Given the description of an element on the screen output the (x, y) to click on. 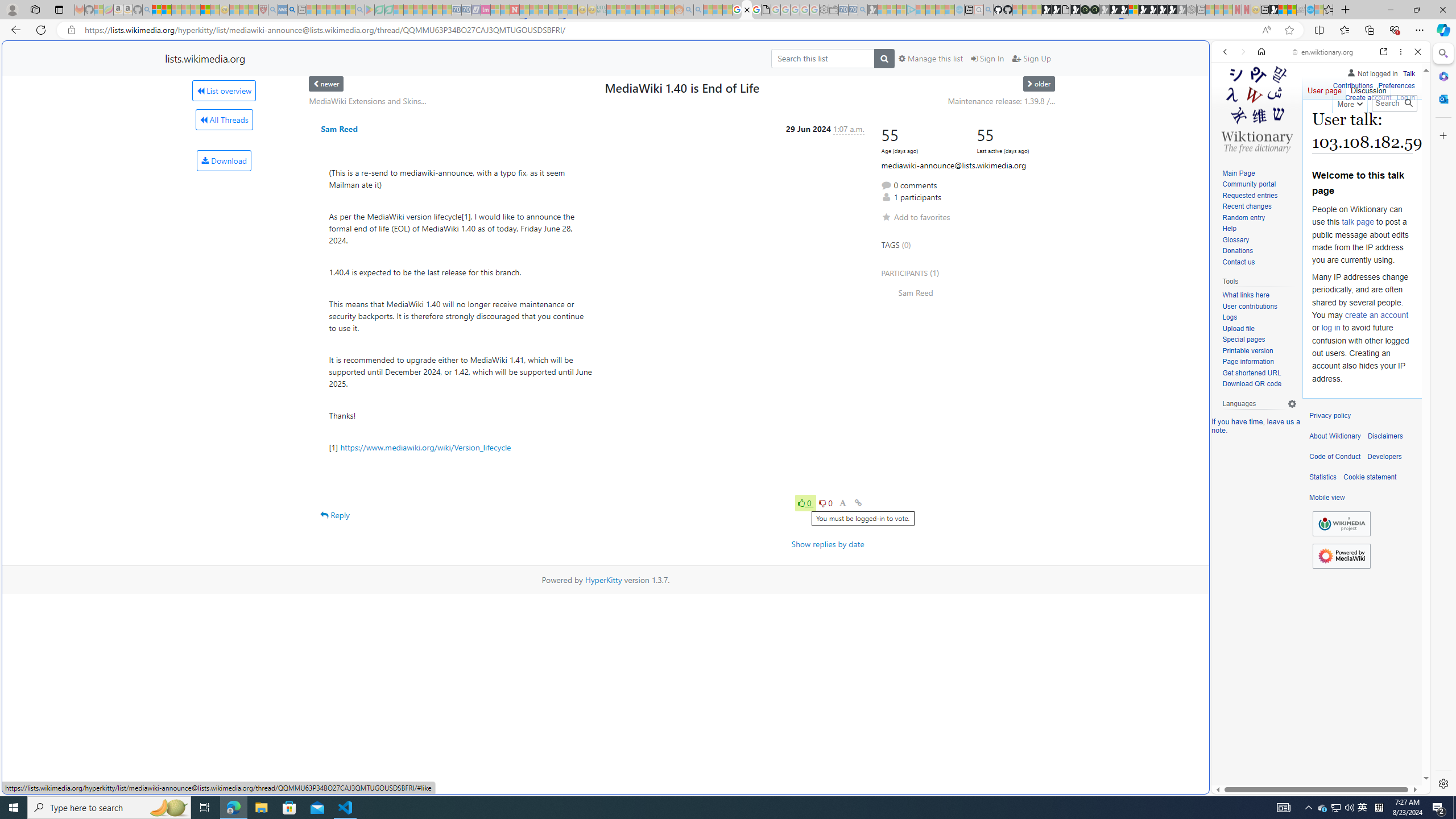
en.wiktionary.org (1323, 51)
Powered by MediaWiki (1341, 556)
Create account (1367, 96)
Not logged in (1371, 71)
Statistics (1322, 477)
Mobile view (1326, 497)
mediawiki-announce@lists.wikimedia.org (953, 165)
